Given the description of an element on the screen output the (x, y) to click on. 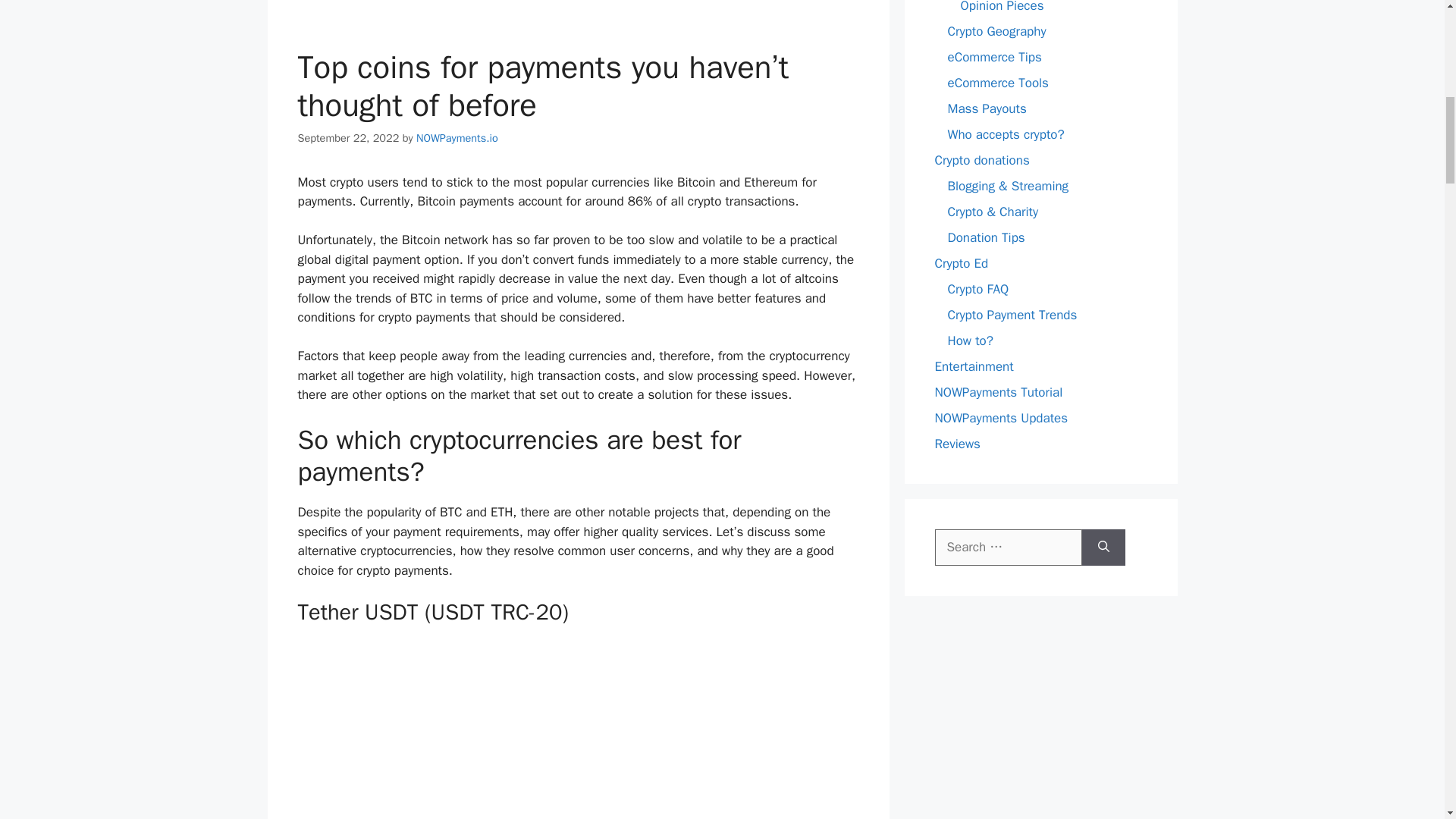
View all posts by NOWPayments.io (456, 137)
Scroll back to top (1406, 720)
NOWPayments.io (456, 137)
Search for: (1007, 547)
